Given the description of an element on the screen output the (x, y) to click on. 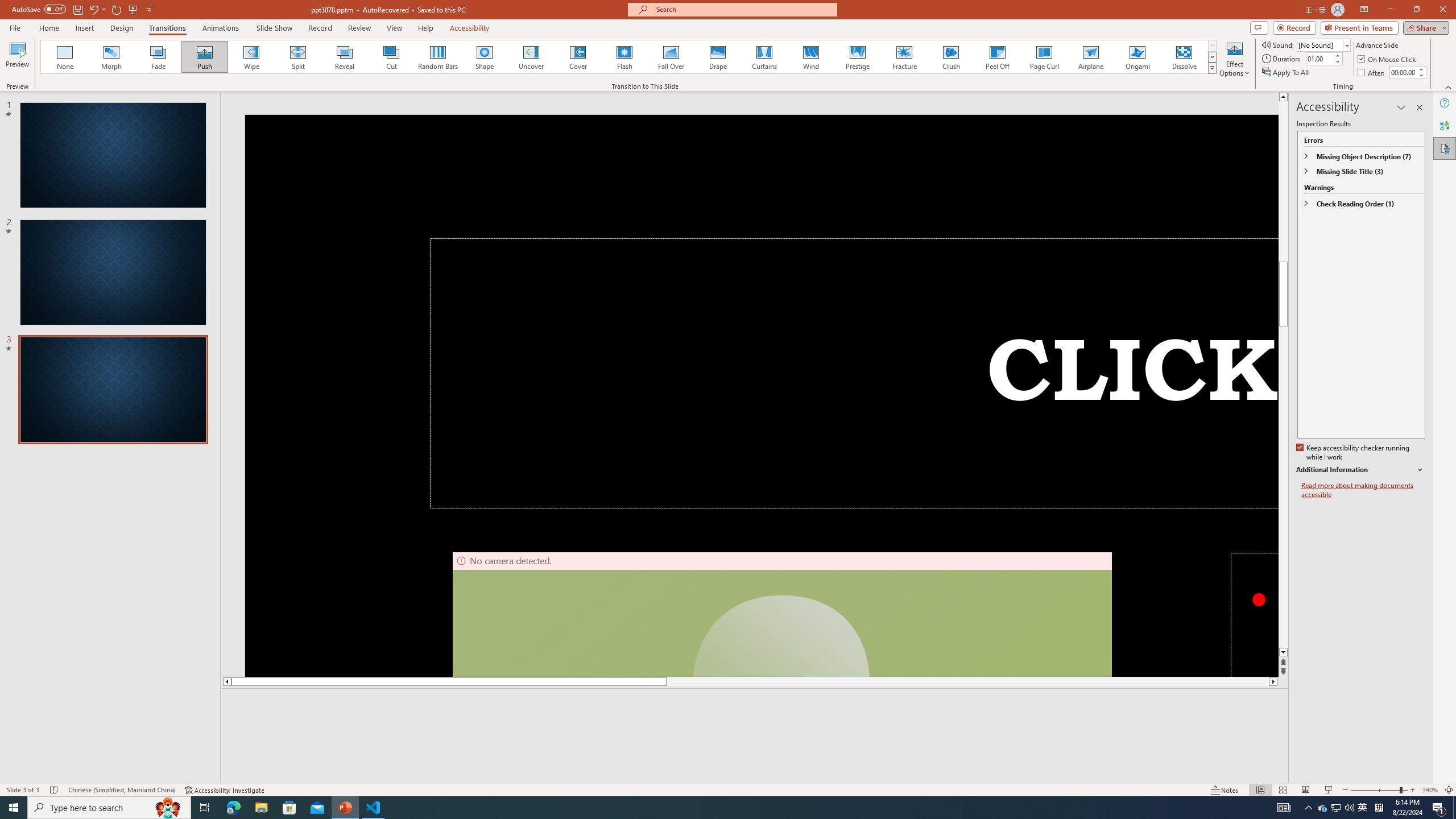
Push (205, 56)
Fracture (903, 56)
Slide Notes (755, 705)
More (1420, 69)
Zoom 340% (1430, 790)
Wipe (251, 56)
